Given the description of an element on the screen output the (x, y) to click on. 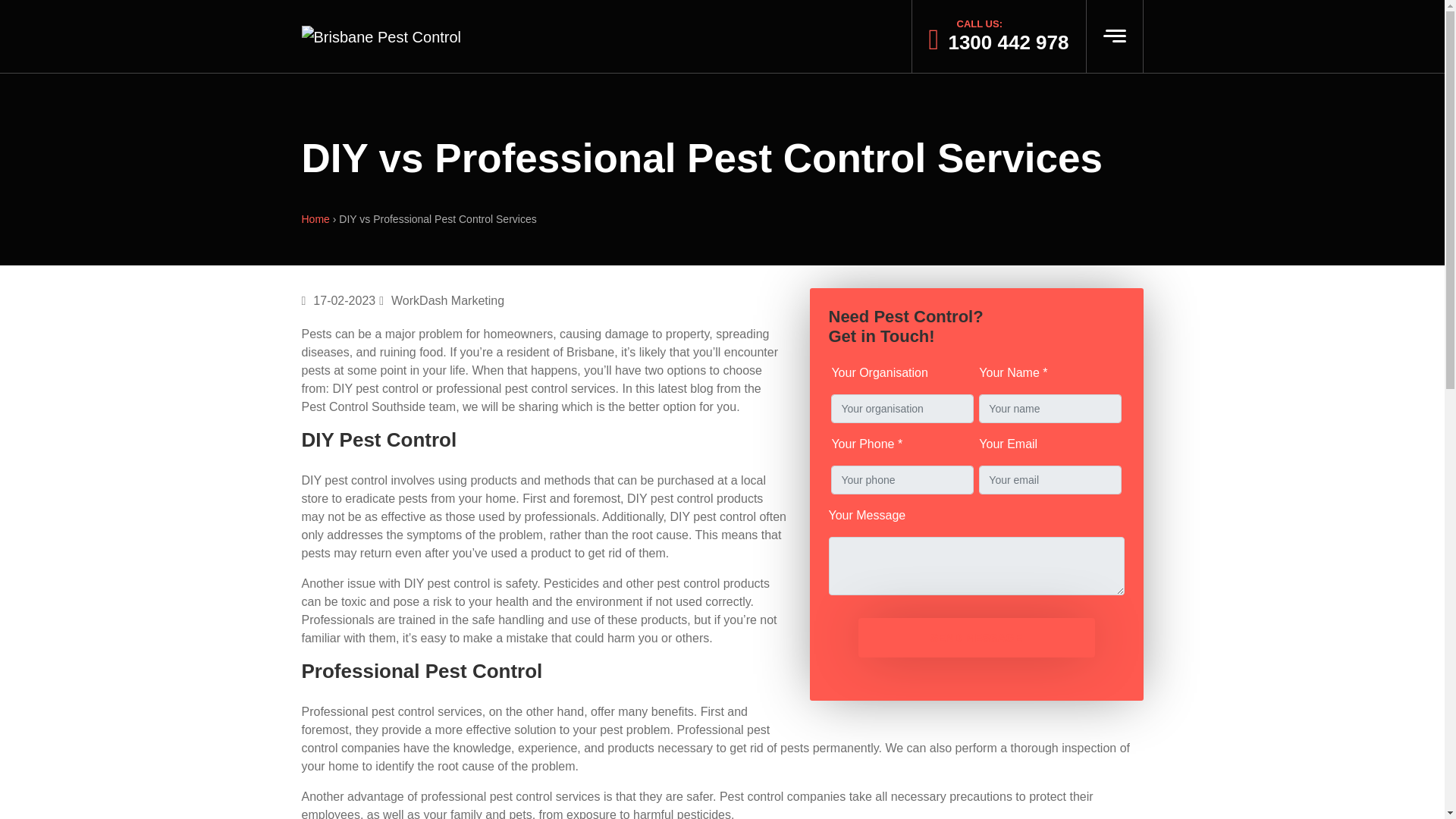
1300 442 978 (1003, 42)
Send Message (976, 638)
Send Message (976, 638)
Home (315, 218)
